Given the description of an element on the screen output the (x, y) to click on. 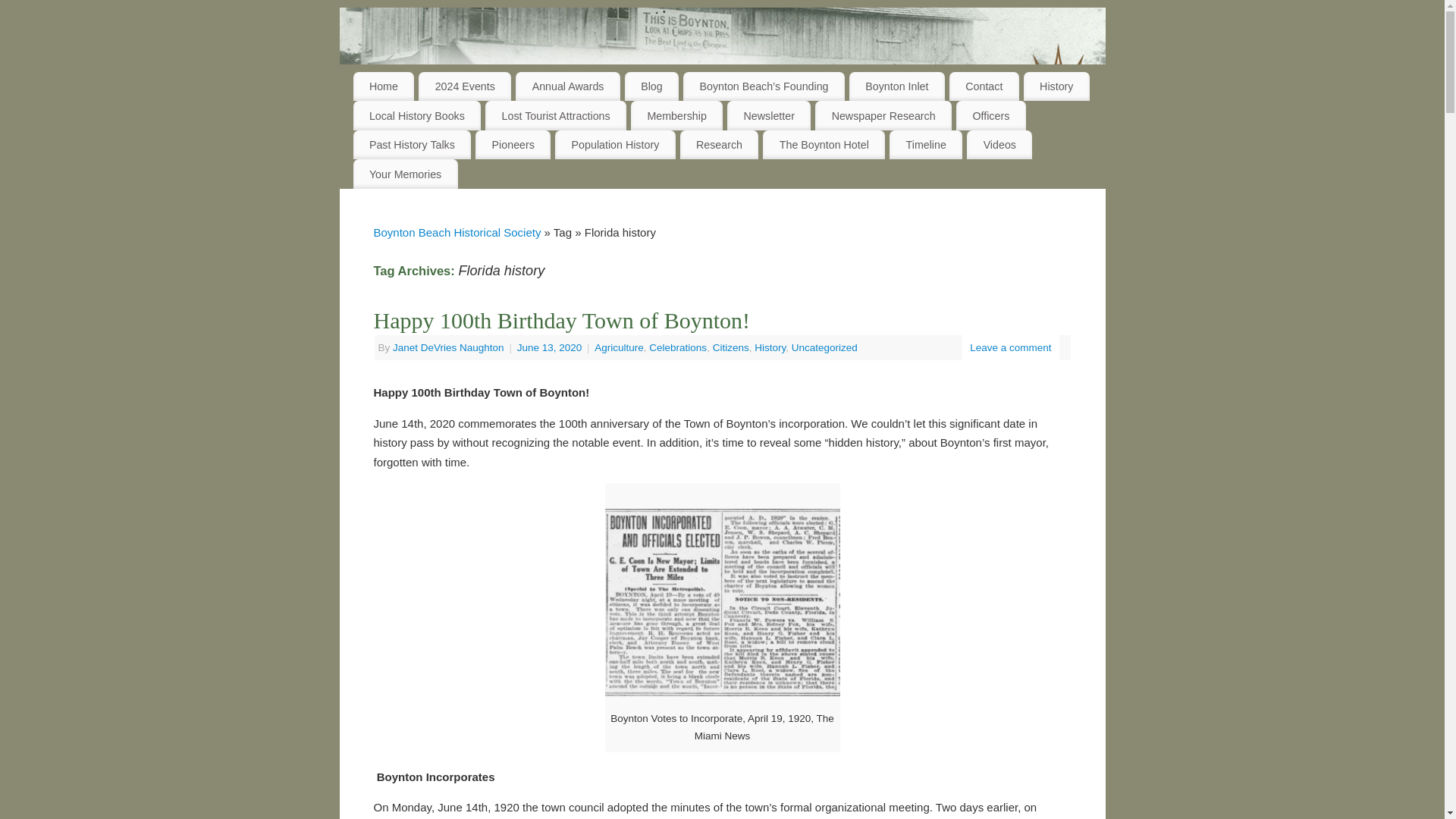
Annual Awards (567, 86)
Videos (999, 144)
Newspaper Research (883, 114)
Population History (614, 144)
Boynton Beach Historical Society (456, 232)
Officers (991, 114)
Contact (984, 86)
Happy 100th Birthday Town of Boynton! (560, 319)
History (1056, 86)
2024 Events (465, 86)
